Given the description of an element on the screen output the (x, y) to click on. 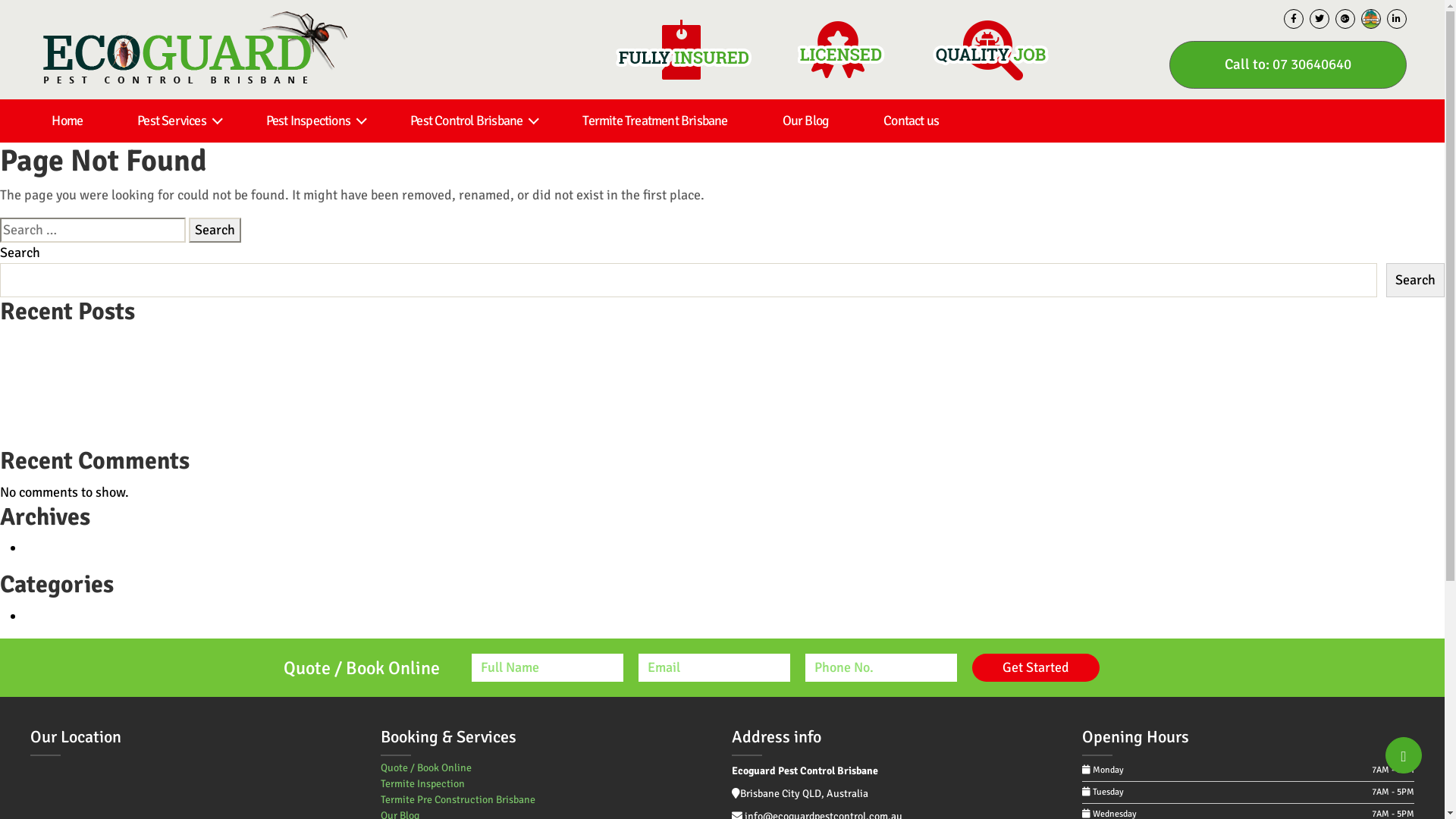
Pest Services Element type: text (174, 120)
8 Most Notorious House Pests Of Australia Element type: text (122, 423)
Termite Inspection Element type: text (422, 783)
Quote / Book Online Element type: text (425, 767)
Our Blog Element type: text (805, 120)
End of Lease Pest Control: Why Is It Essential? Element type: text (132, 403)
Termite Pre Construction Brisbane Element type: text (457, 799)
Termite Treatment Brisbane Element type: text (654, 120)
Pest Inspections Element type: text (310, 120)
07 30640640 Element type: text (1311, 64)
Contact us Element type: text (910, 120)
Search Element type: text (214, 229)
Uncategorized Element type: text (66, 615)
Home Element type: text (66, 120)
Get Started Element type: text (1035, 667)
January 2023 Element type: text (63, 547)
Search Element type: text (1415, 280)
Pest Control Brisbane Element type: text (468, 120)
The Steps to Follow Before Residential Pest Control Element type: text (147, 382)
Pest Controlling During The Springs Element type: text (105, 341)
Professional Pest Control Protection During the COVID-19 Element type: text (167, 362)
